Given the description of an element on the screen output the (x, y) to click on. 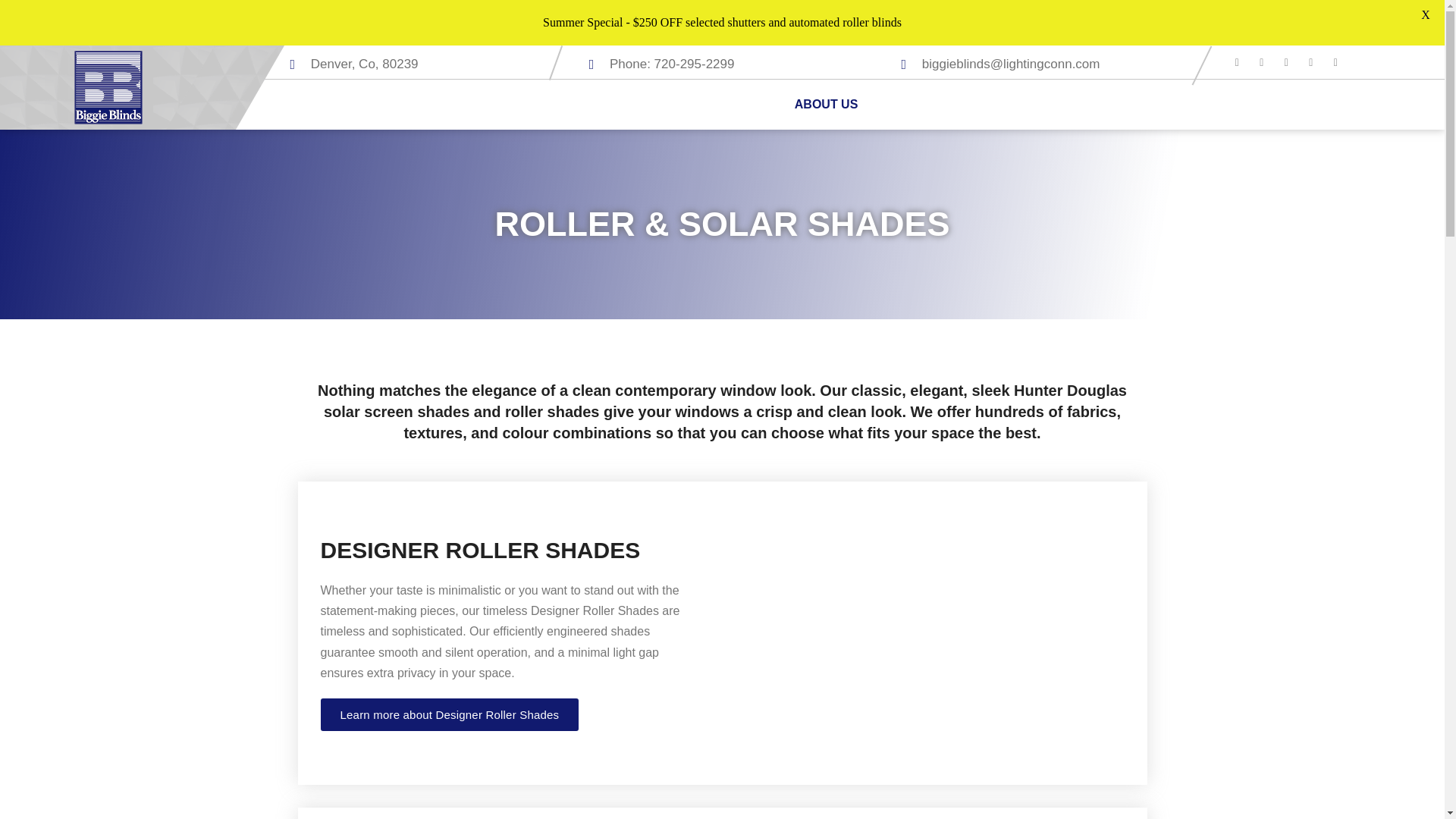
Phone: 720-295-2299 (671, 63)
Yelp (1317, 62)
BBB (1292, 62)
Homeadvisor (1342, 62)
Google (1267, 62)
ABOUT US (825, 104)
Facebook (1243, 62)
